Given the description of an element on the screen output the (x, y) to click on. 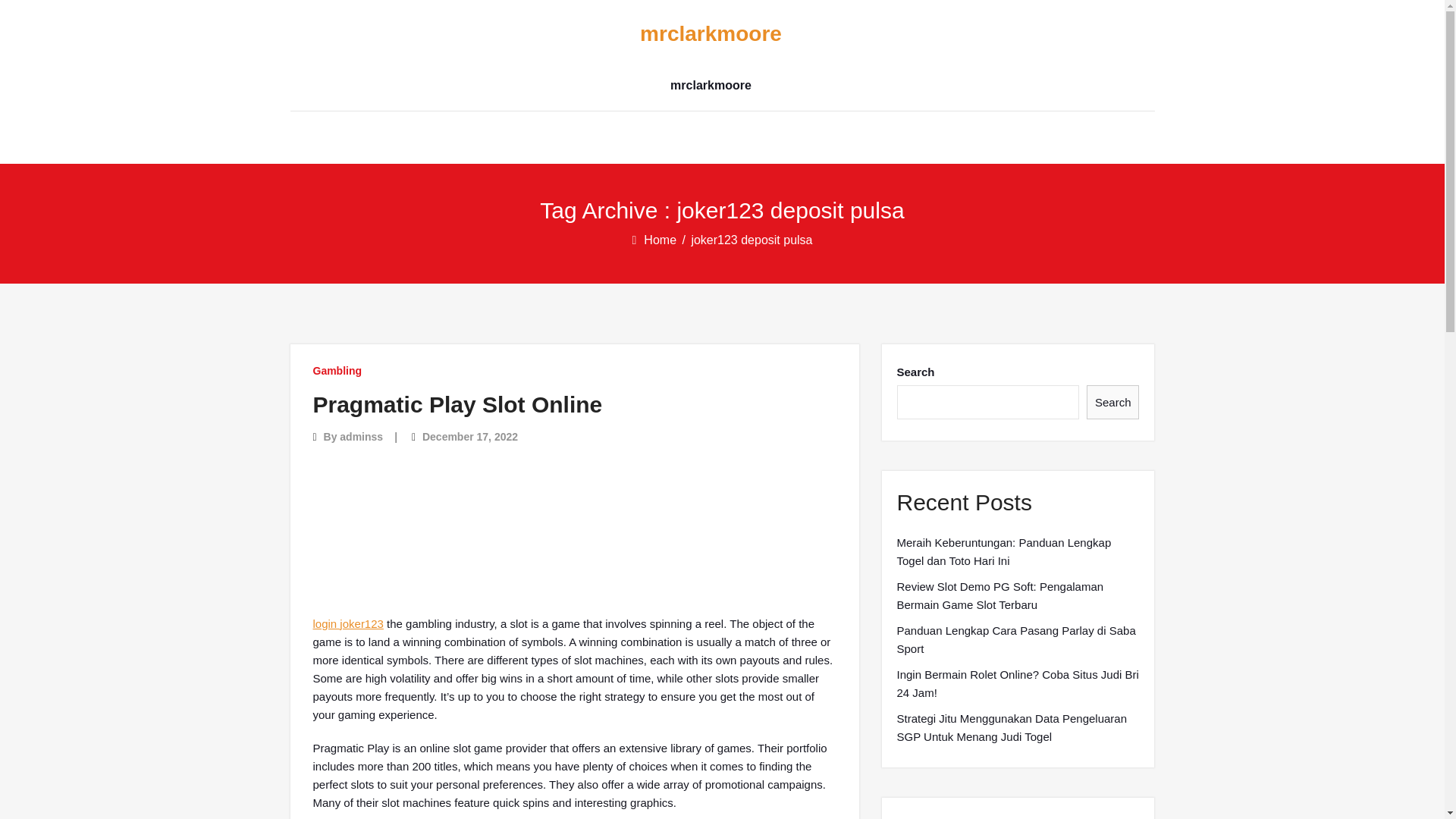
adminss (360, 436)
Search (1113, 401)
mrclarkmoore (710, 34)
Pragmatic Play Slot Online (457, 404)
December 17, 2022 (470, 436)
Panduan Lengkap Cara Pasang Parlay di Saba Sport (1017, 639)
Ingin Bermain Rolet Online? Coba Situs Judi Bri 24 Jam! (1017, 683)
Home (660, 239)
login joker123 (347, 623)
Gambling (337, 370)
